Given the description of an element on the screen output the (x, y) to click on. 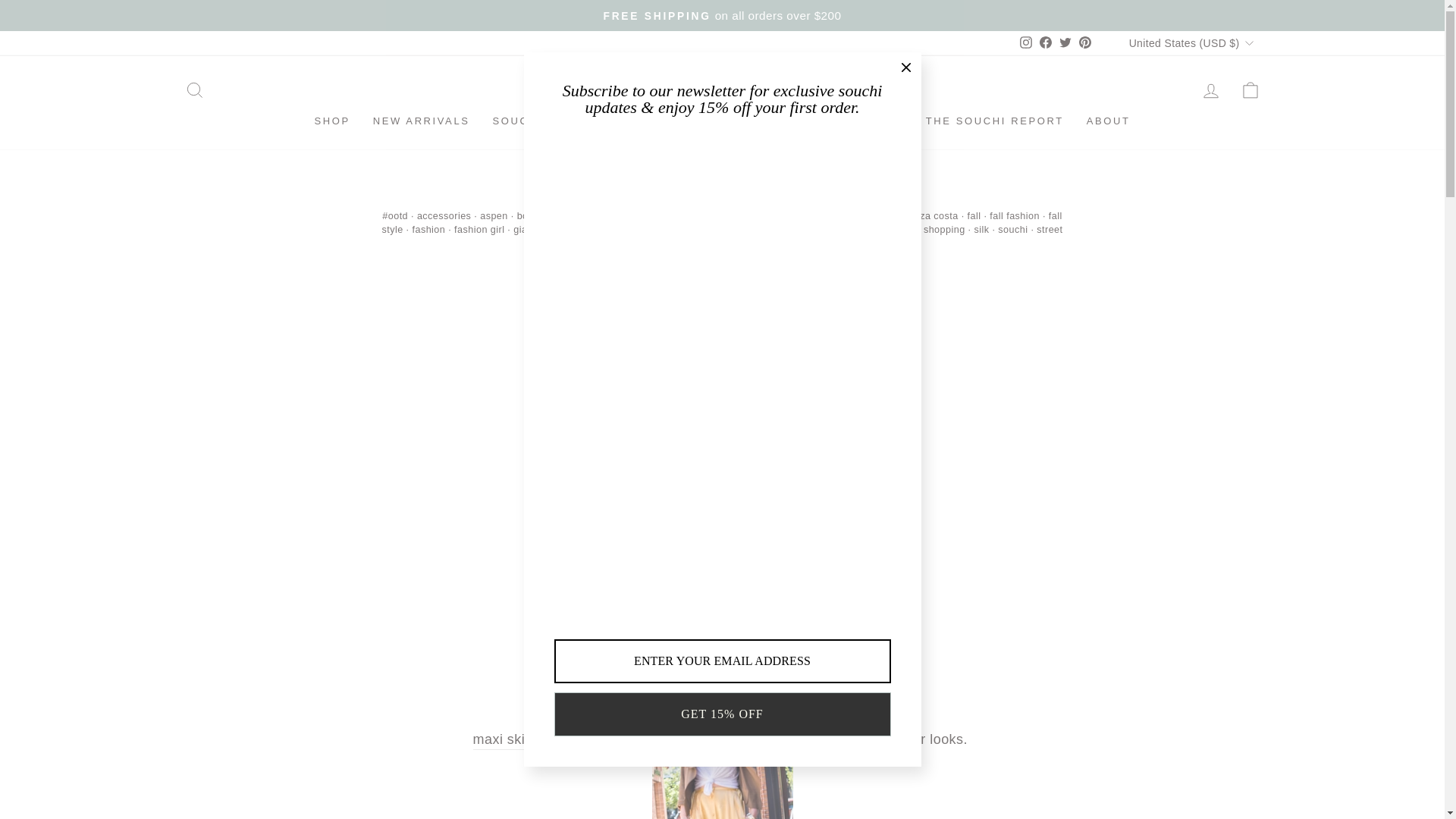
souchi on Facebook (1045, 42)
ICON-SEARCH (194, 89)
souchi on Twitter (1065, 42)
souchi on Instagram (1065, 42)
Back to the frontpage (1025, 42)
twitter (1025, 42)
ICON-BAG-MINIMAL (684, 194)
ACCOUNT (1065, 42)
instagram (1249, 89)
Facebook (1210, 90)
souchi on Pinterest (1026, 42)
